Given the description of an element on the screen output the (x, y) to click on. 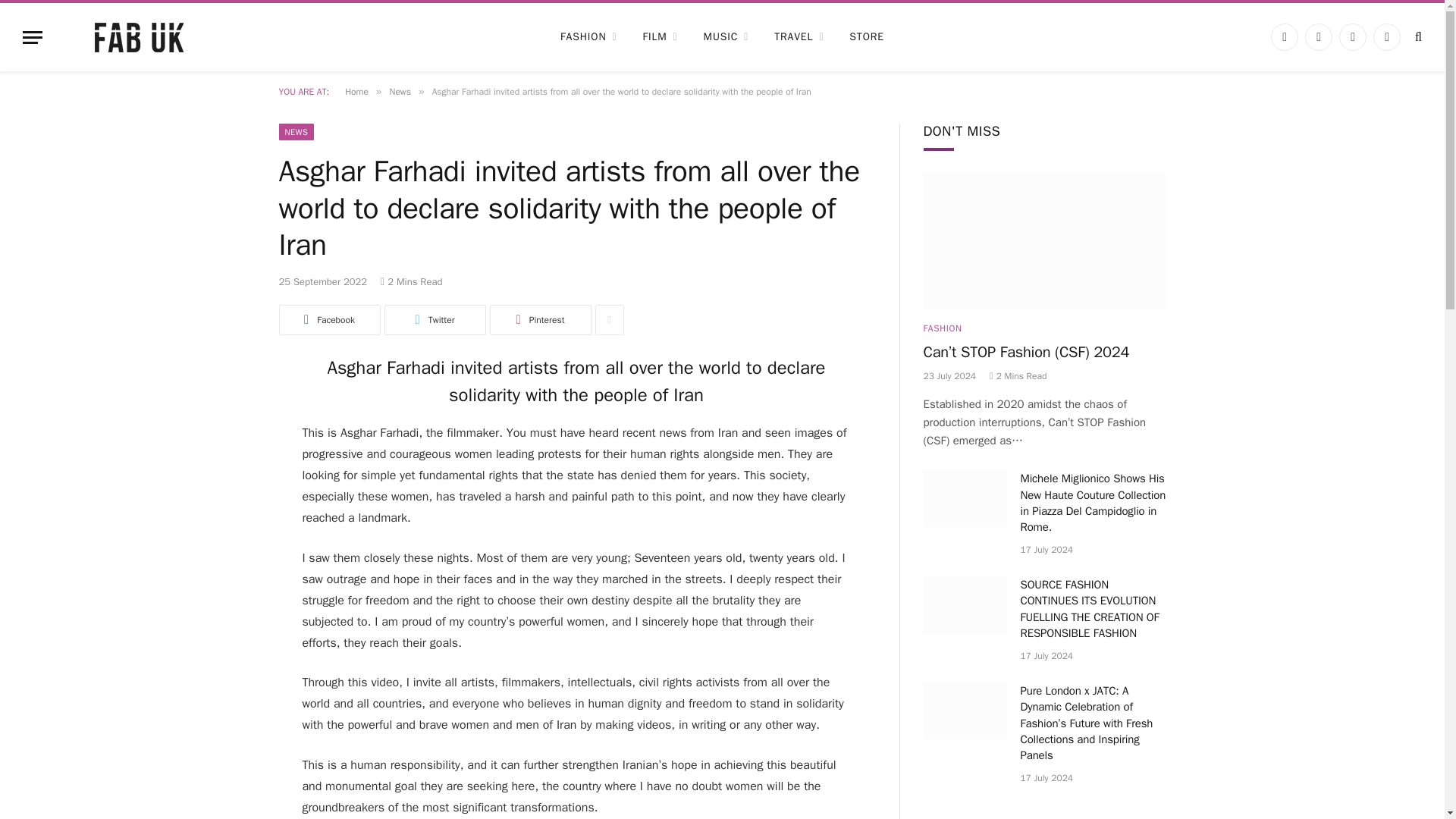
Fabuk Magazine (138, 36)
MUSIC (725, 37)
FASHION (587, 37)
FILM (659, 37)
